Given the description of an element on the screen output the (x, y) to click on. 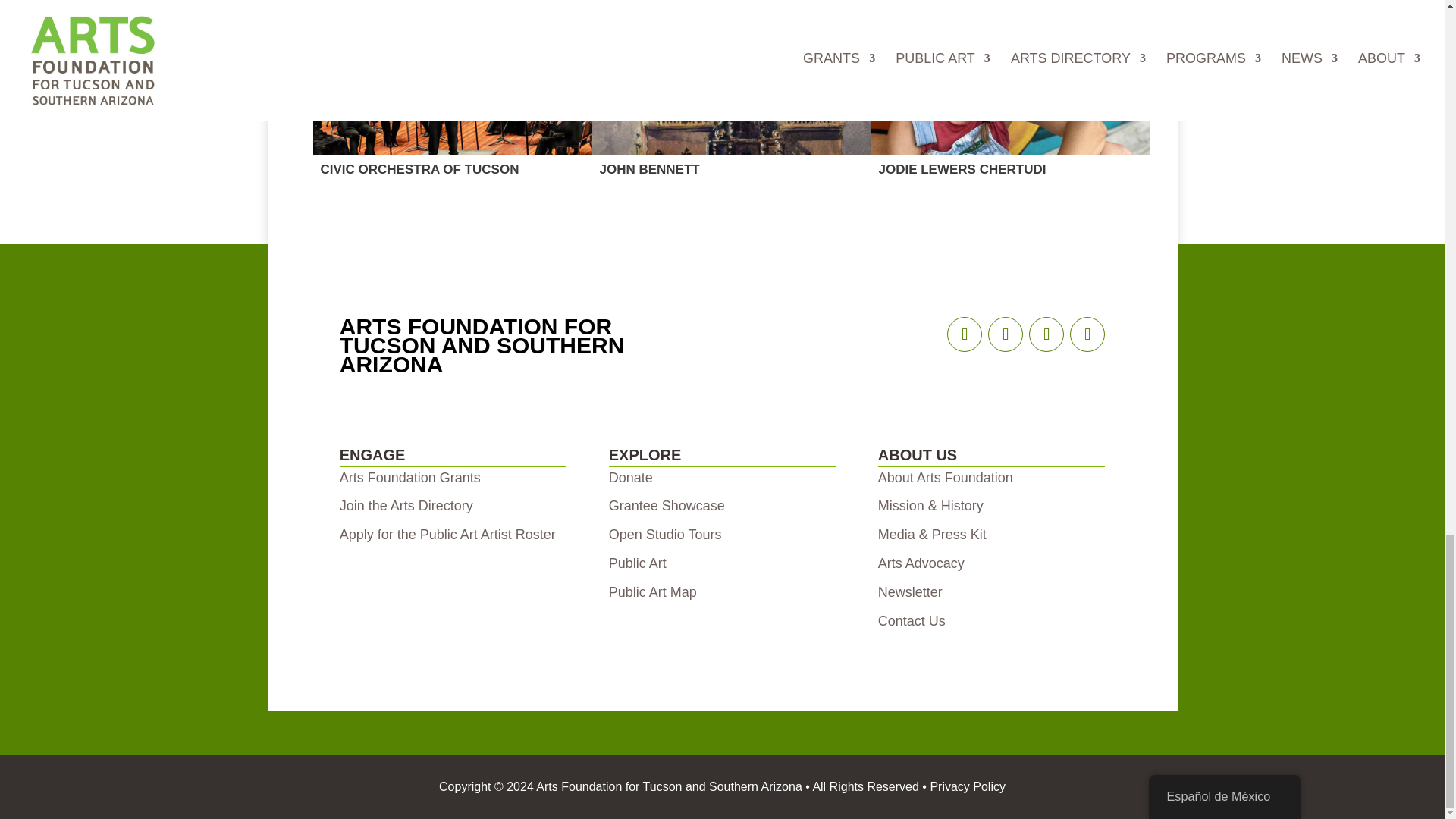
Follow on Instagram (1005, 334)
Follow on Facebook (964, 334)
Follow on X (1046, 334)
Follow on LinkedIn (1087, 334)
